Given the description of an element on the screen output the (x, y) to click on. 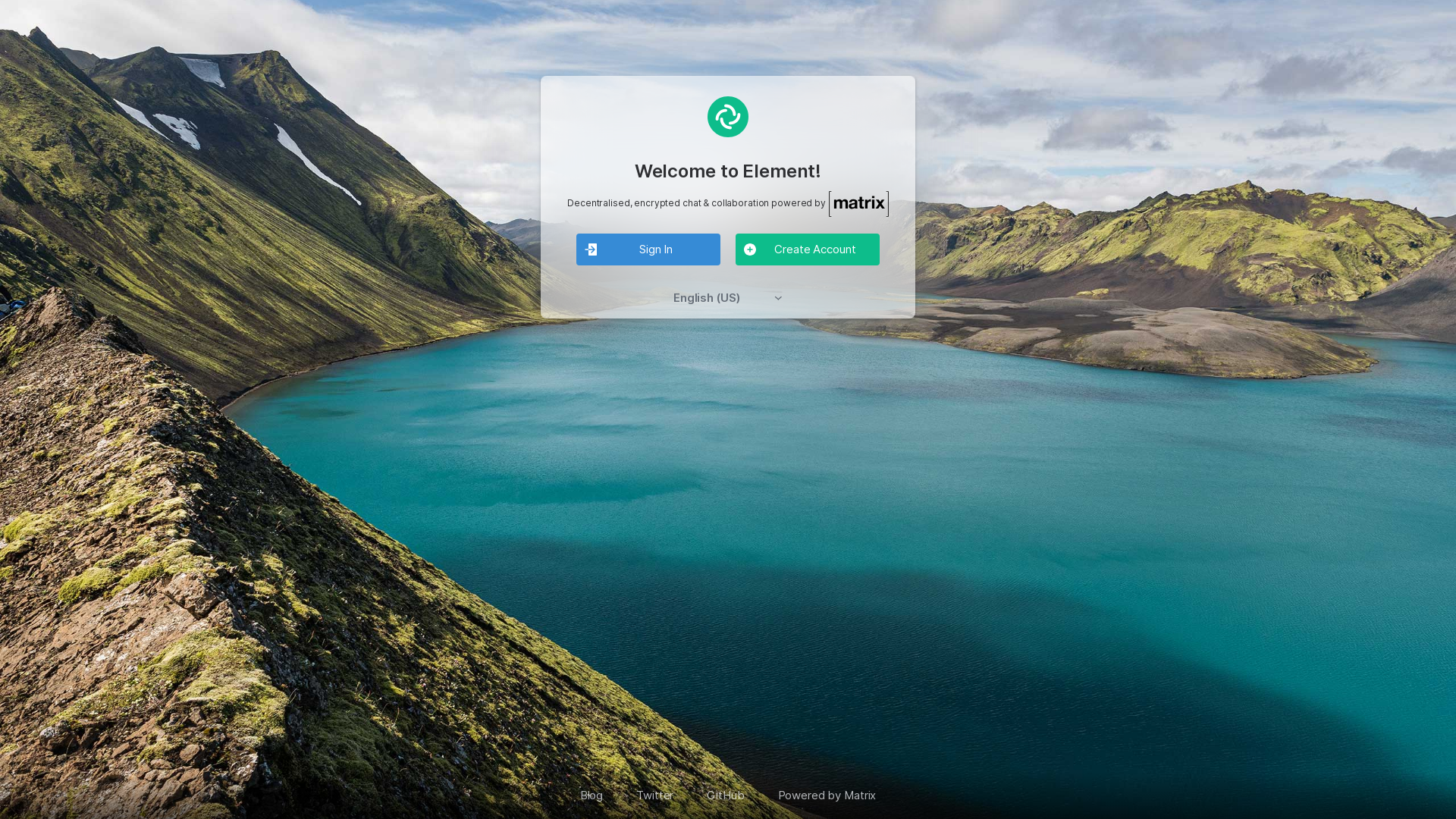
Create Account Element type: text (807, 249)
GitHub Element type: text (724, 794)
Twitter Element type: text (654, 794)
Powered by Matrix Element type: text (827, 794)
Sign In Element type: text (648, 249)
Blog Element type: text (591, 794)
